Given the description of an element on the screen output the (x, y) to click on. 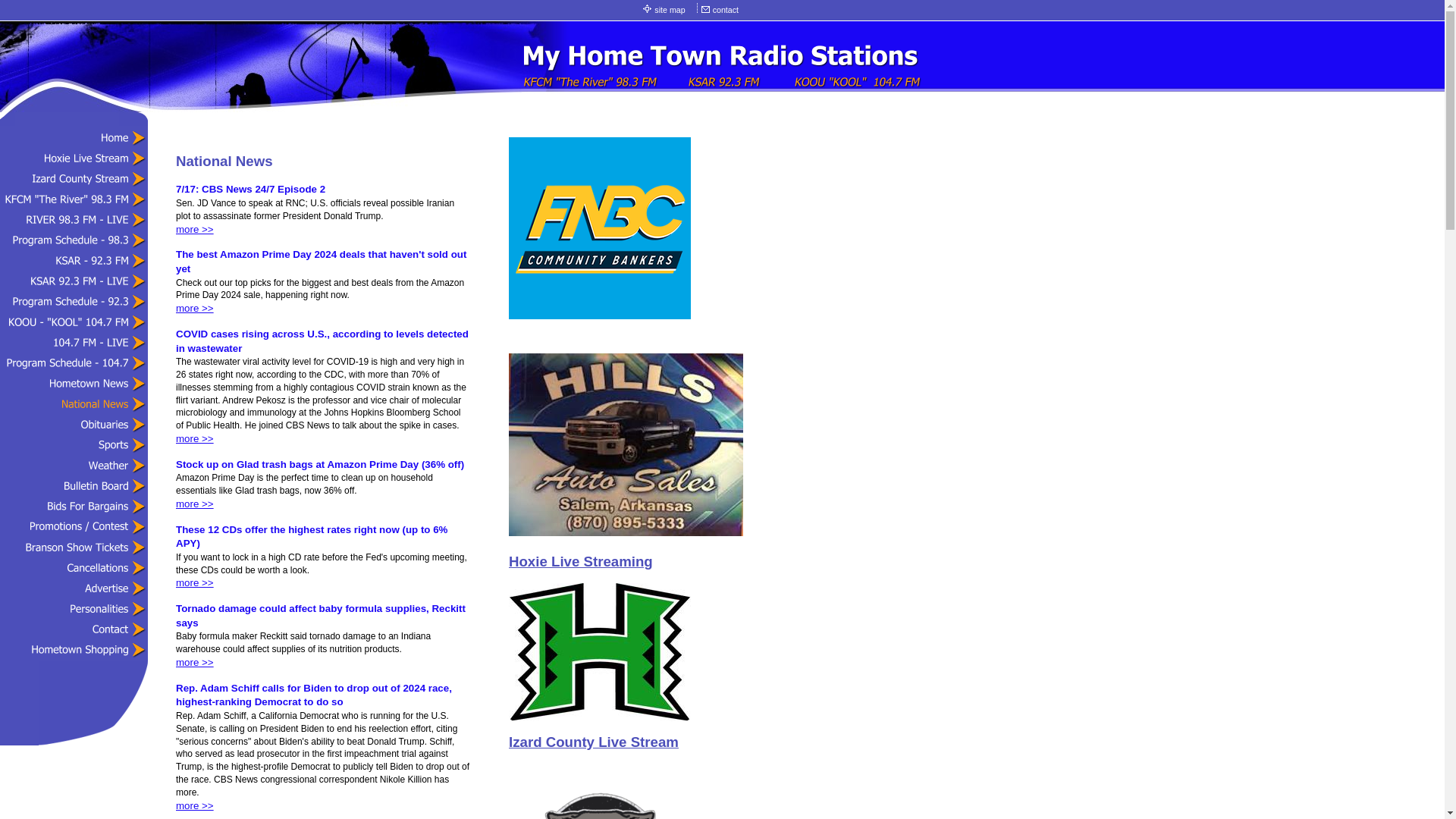
contact (726, 9)
site map (669, 9)
